Given the description of an element on the screen output the (x, y) to click on. 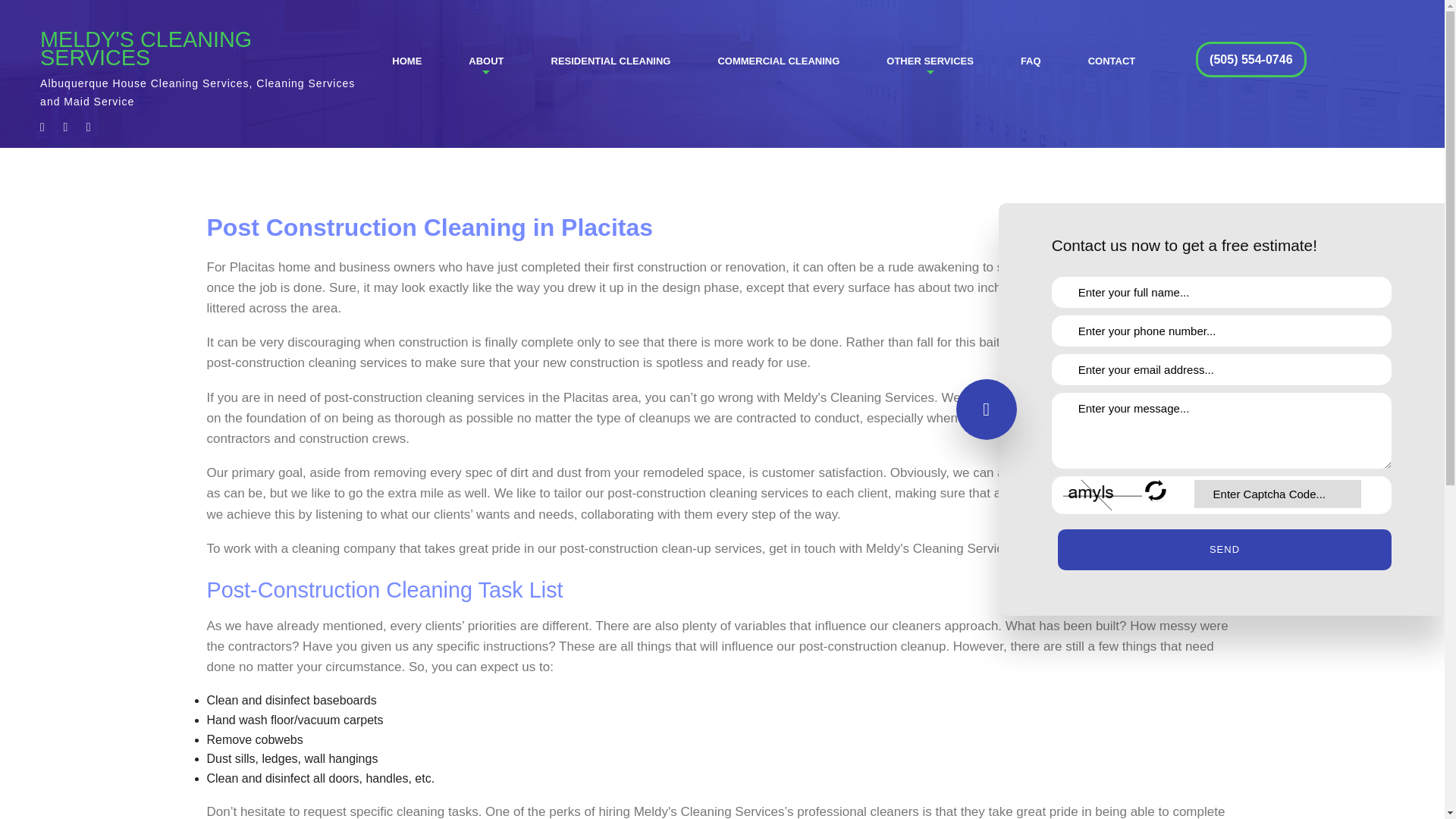
Enter Captcha (1277, 493)
Phone Number (1221, 330)
HOME (406, 60)
Meldy's Cleaning Services (202, 48)
Enter your message (1221, 430)
Email Address (1221, 368)
Meldy's Cleaning Services's Instagram Page (64, 126)
Meldy's Cleaning Services's Facebook Page (42, 126)
ABOUT (485, 60)
Full Name (1221, 291)
MELDY'S CLEANING SERVICES (202, 48)
Meldy's Cleaning Services's Twitter Page (87, 126)
